Given the description of an element on the screen output the (x, y) to click on. 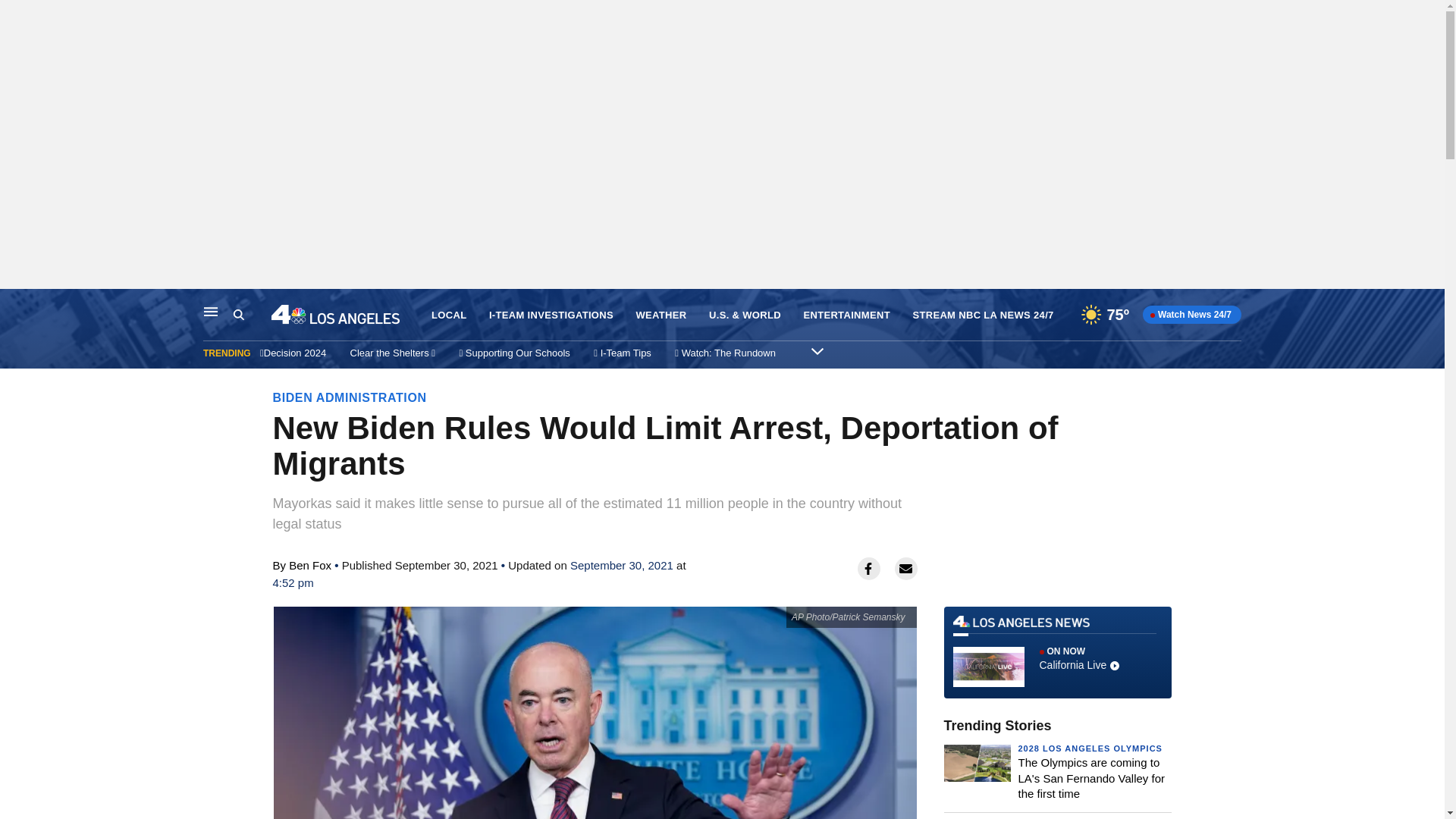
Main Navigation (210, 311)
Search (238, 314)
Expand (817, 350)
I-TEAM INVESTIGATIONS (550, 315)
WEATHER (659, 315)
LOCAL (447, 315)
ENTERTAINMENT (846, 315)
Skip to content (16, 304)
Search (252, 314)
BIDEN ADMINISTRATION (349, 397)
